Given the description of an element on the screen output the (x, y) to click on. 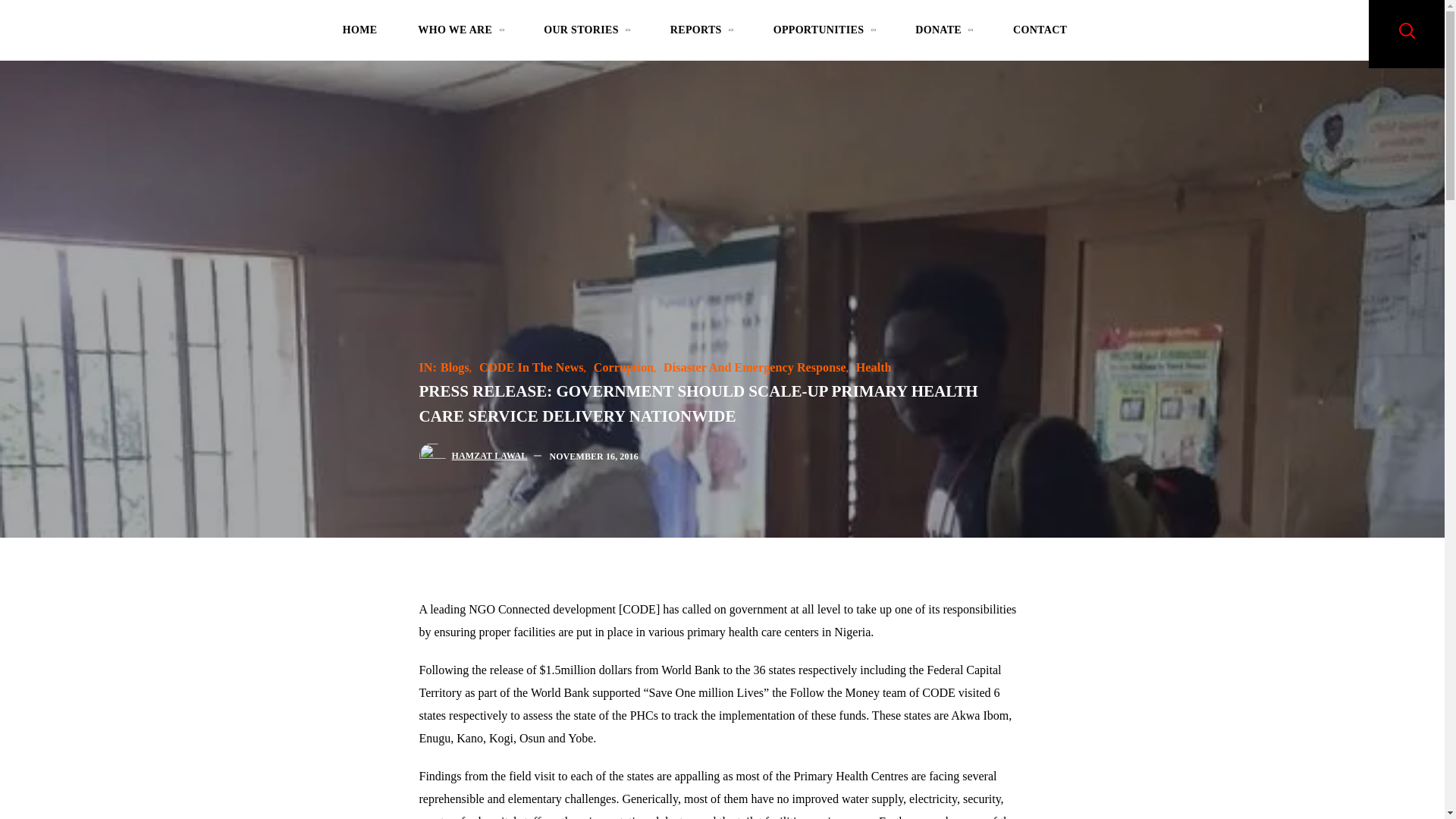
HOME (359, 33)
REPORTS (700, 33)
WHO WE ARE (459, 33)
OUR STORIES (585, 33)
